Given the description of an element on the screen output the (x, y) to click on. 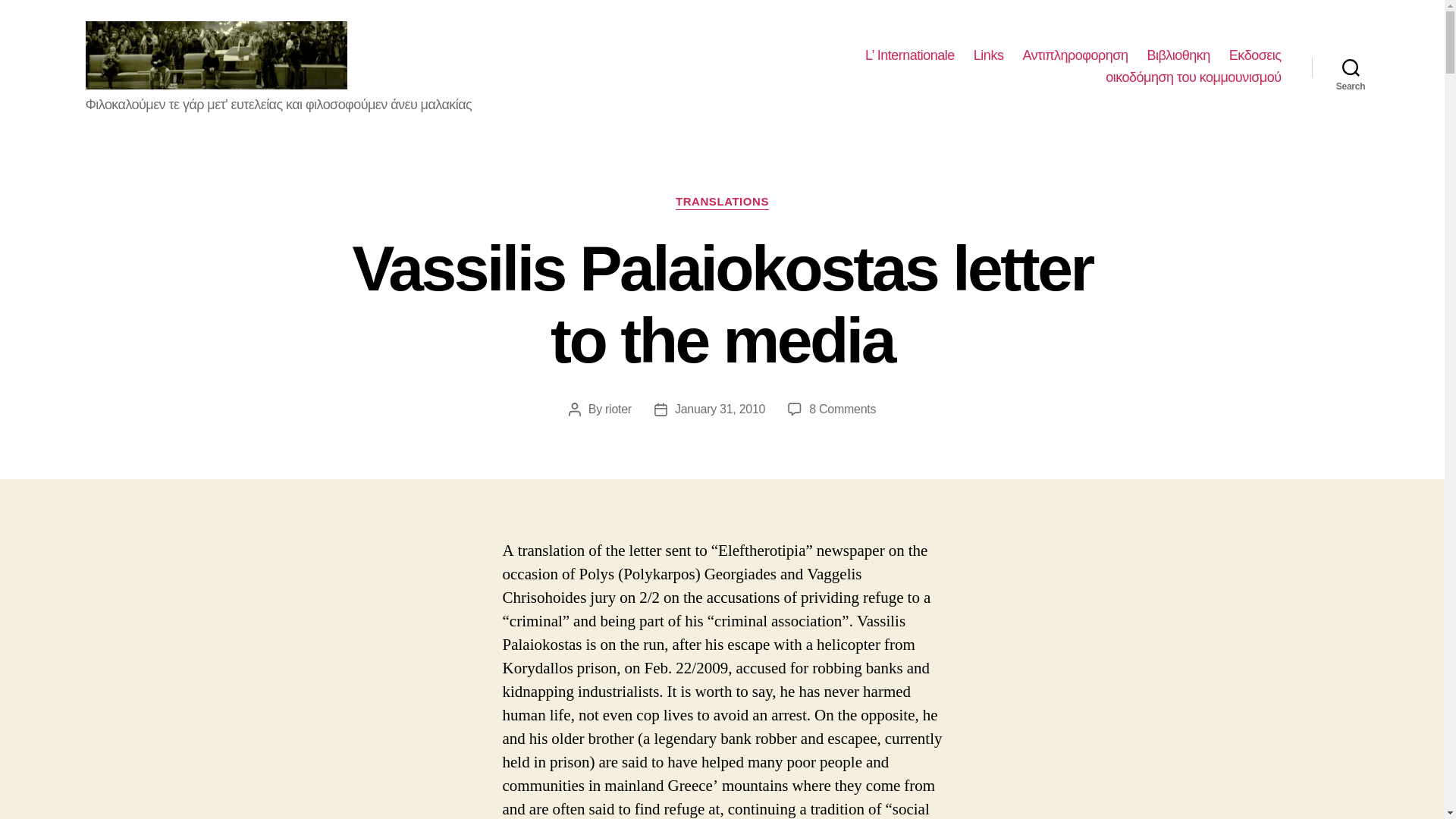
TRANSLATIONS (842, 408)
Search (721, 201)
rioter (1350, 66)
Links (618, 408)
January 31, 2010 (989, 55)
